Given the description of an element on the screen output the (x, y) to click on. 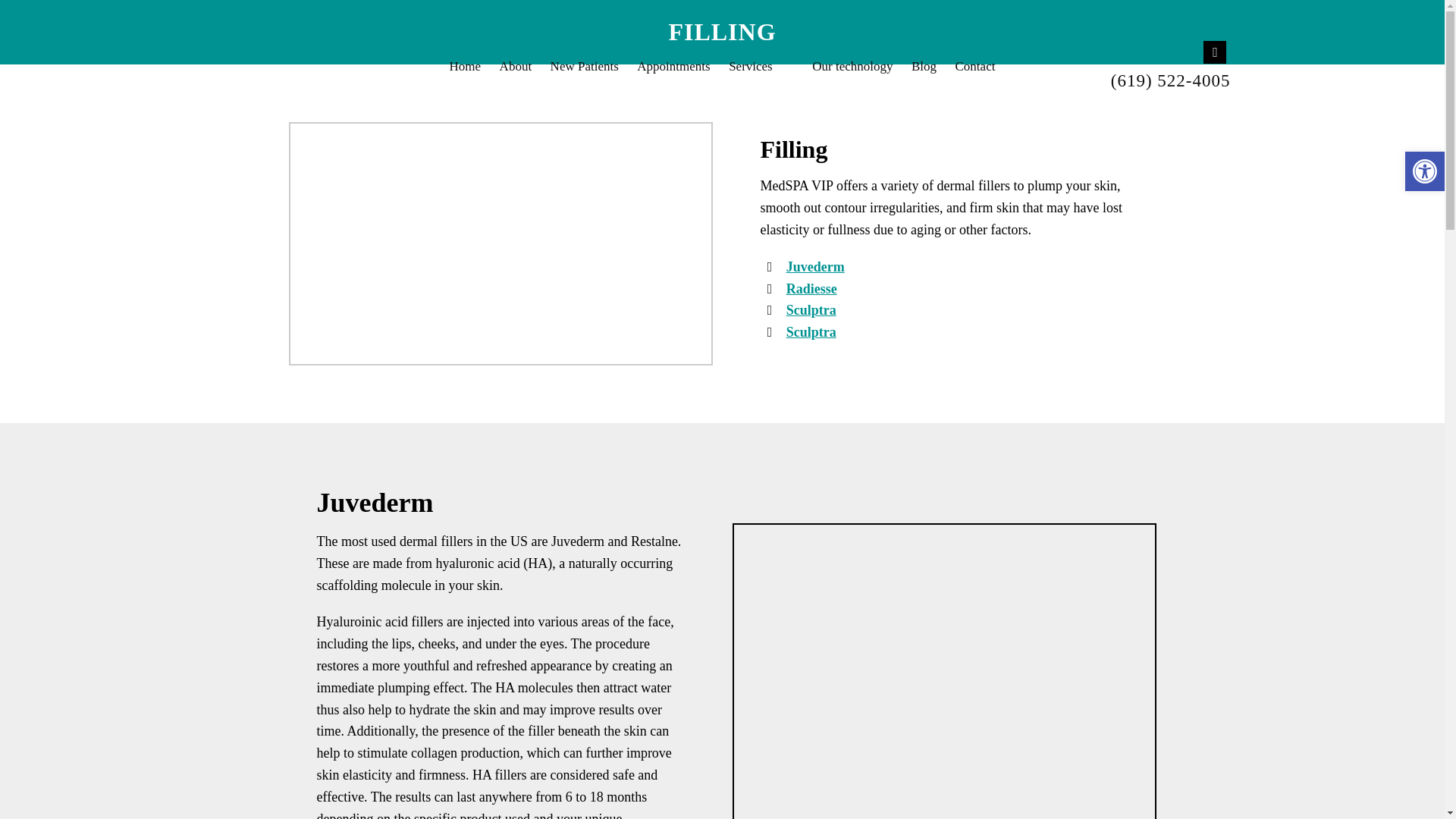
Accessibility Tools (1424, 170)
New Patients (584, 66)
Contact (975, 66)
Radiesse (811, 287)
Services (761, 66)
Sculptra (810, 309)
Sculptra (810, 331)
Appointments (672, 66)
Home (465, 66)
Our technology (852, 66)
About (516, 66)
Juvederm (815, 266)
Blog (923, 66)
